Given the description of an element on the screen output the (x, y) to click on. 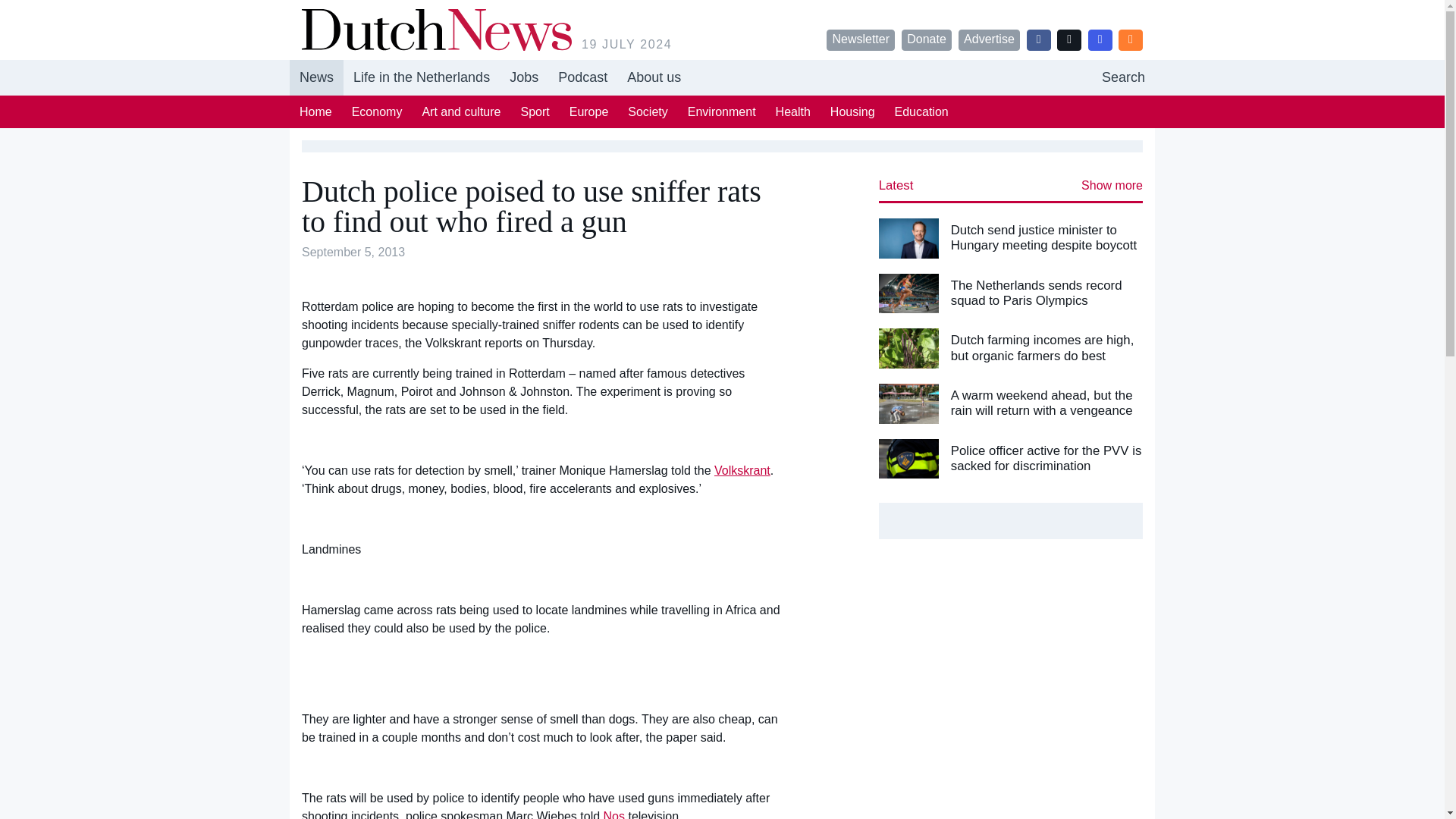
Search (1123, 77)
News (316, 77)
About us (653, 77)
hidden-in-footer (582, 77)
Art and culture (461, 111)
Donate (926, 39)
Economy (377, 111)
Sport (535, 111)
hidden-in-footer (523, 77)
Education (921, 111)
Housing (853, 111)
Europe (588, 111)
Newsletter (861, 39)
Society (647, 111)
